Given the description of an element on the screen output the (x, y) to click on. 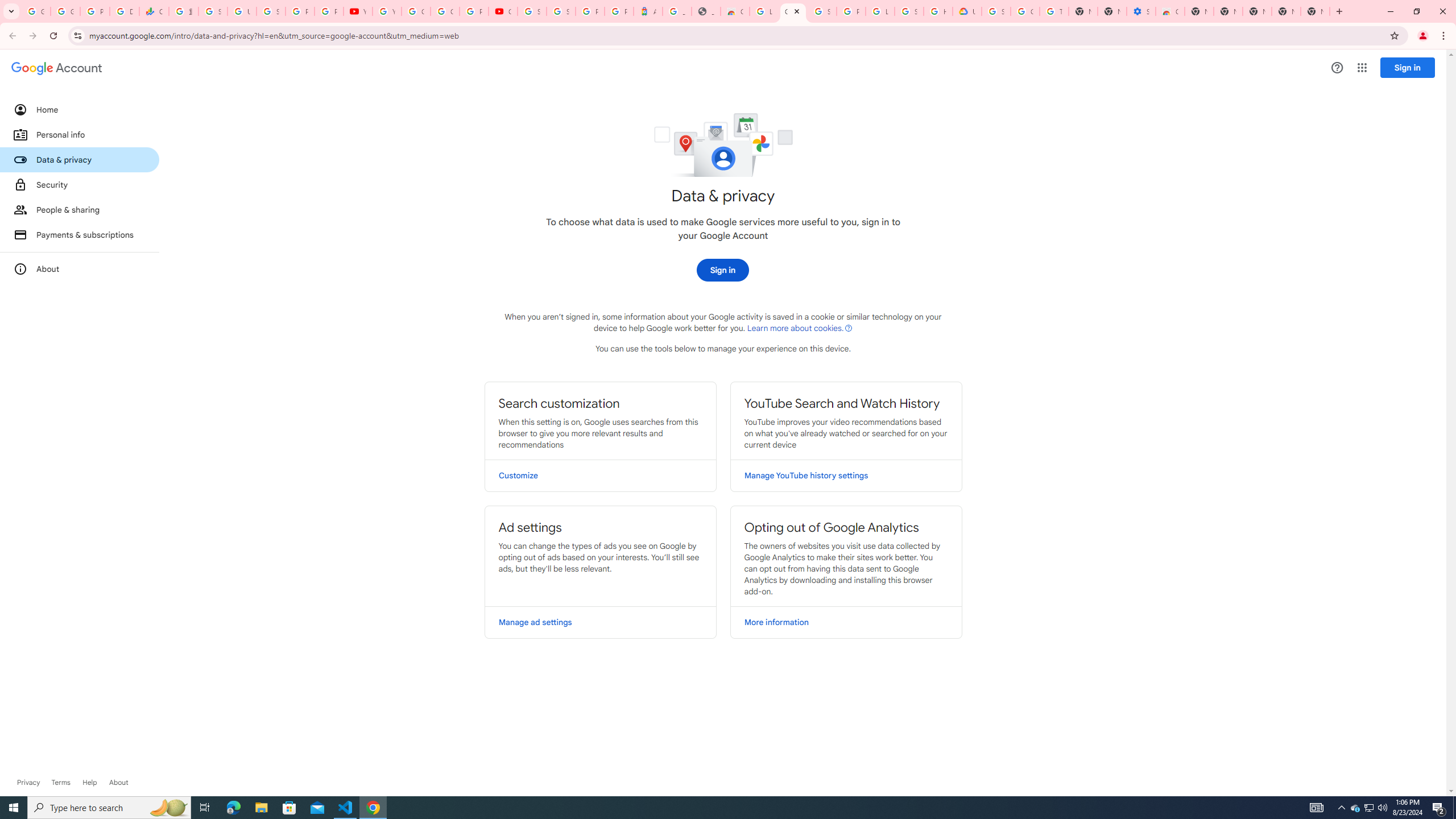
More information (846, 622)
Sign in - Google Accounts (531, 11)
Sign in - Google Accounts (212, 11)
New Tab (1198, 11)
Google Account (792, 11)
Security (79, 184)
Learn more about cookies (Opens in new tab) (799, 327)
People & sharing (79, 209)
YouTube (386, 11)
